Given the description of an element on the screen output the (x, y) to click on. 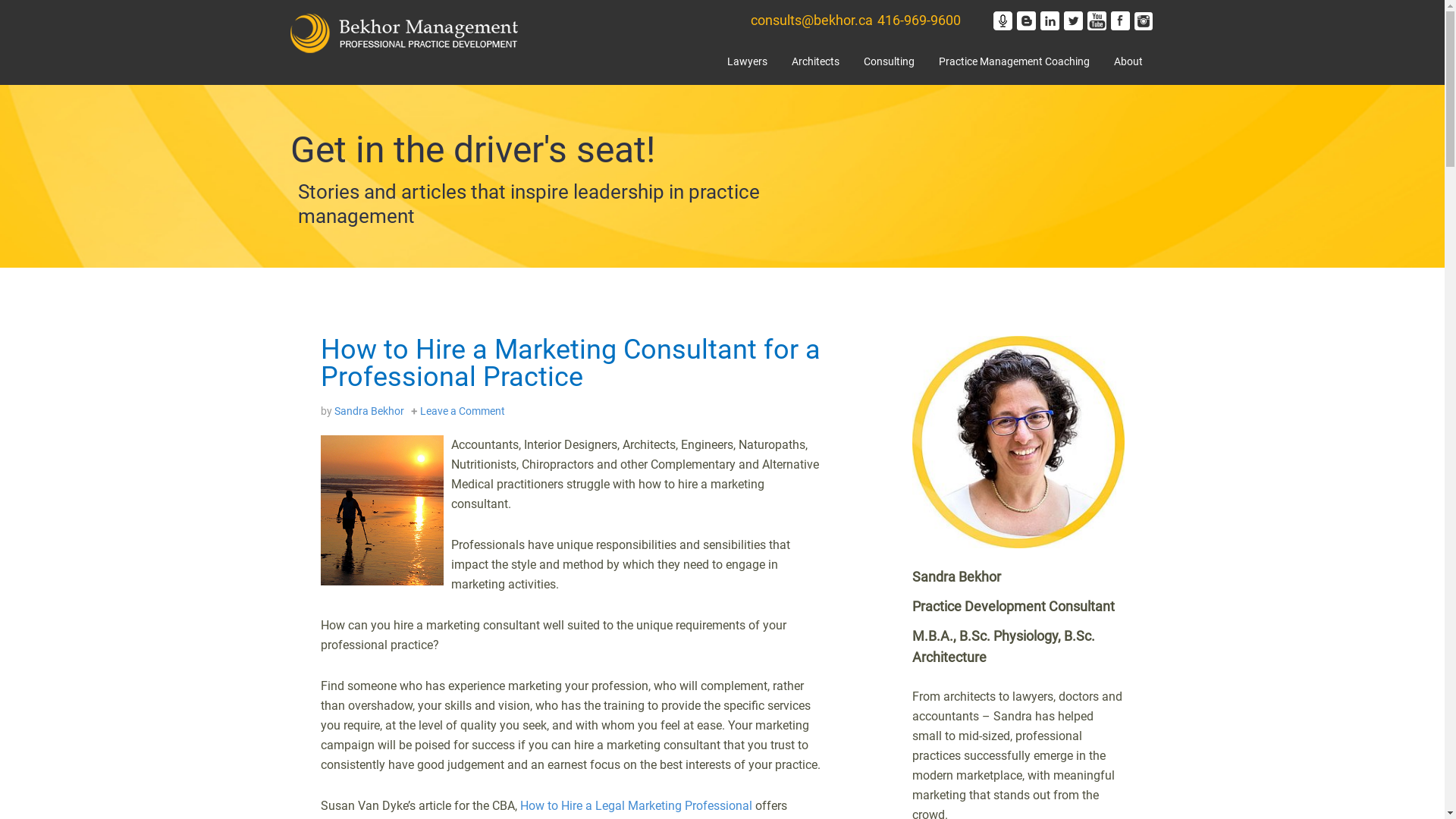
consults@bekhor.ca Element type: text (811, 20)
416-969-9600 Element type: text (918, 20)
How to Hire a Legal Marketing Professional Element type: text (636, 805)
Get in the driver's seat! Element type: text (471, 157)
MARKETING AND MANAGEMENT FOR CANADIAN PROFESSIONAL PRACTICES Element type: text (403, 33)
About Element type: text (1127, 64)
Consulting Element type: text (887, 64)
Architects Element type: text (815, 64)
Practice Management Coaching Element type: text (1013, 64)
Leave a Comment Element type: text (462, 410)
Lawyers Element type: text (746, 64)
Sandra Bekhor Element type: text (368, 410)
